Given the description of an element on the screen output the (x, y) to click on. 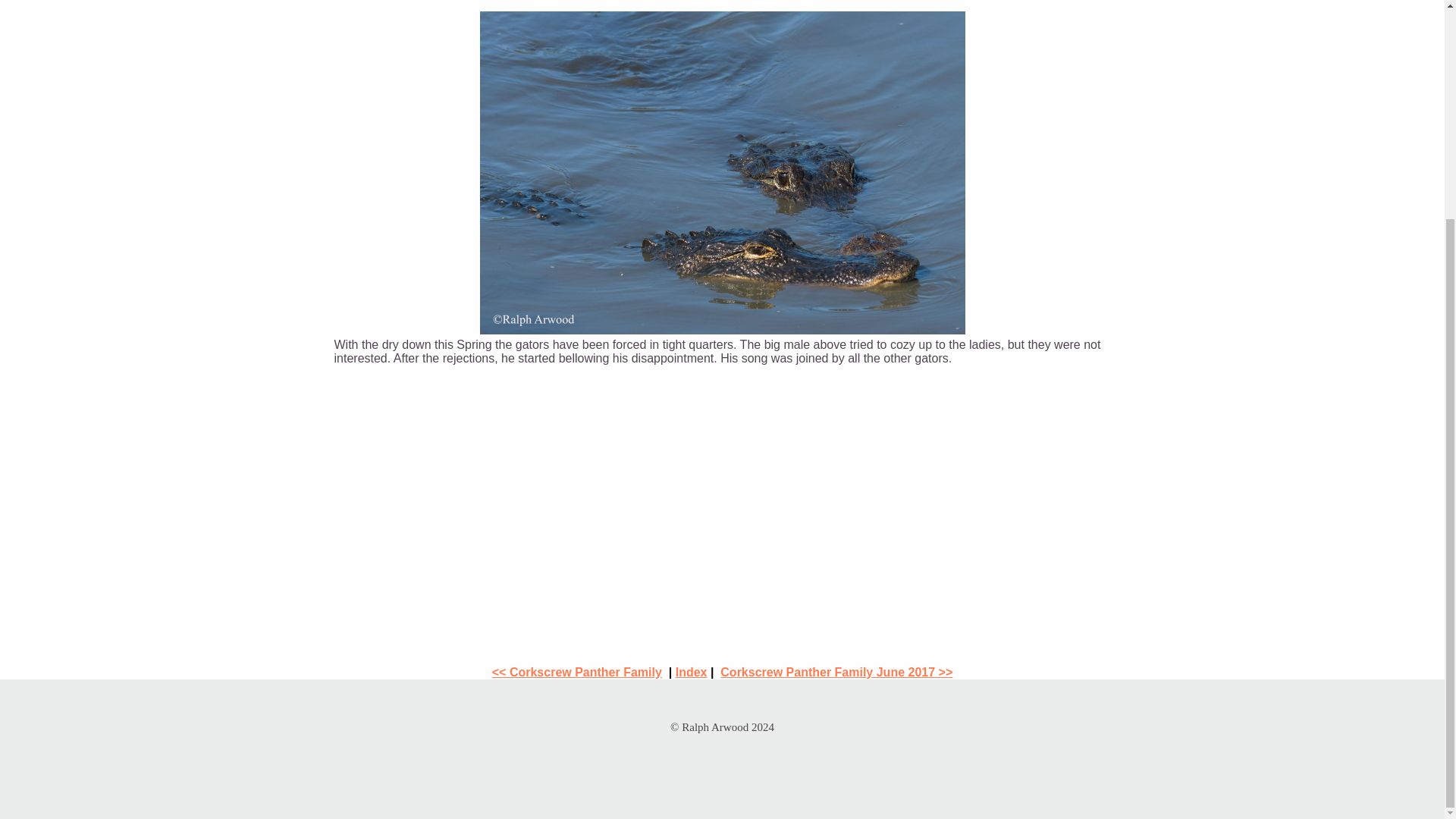
Index (691, 671)
